Given the description of an element on the screen output the (x, y) to click on. 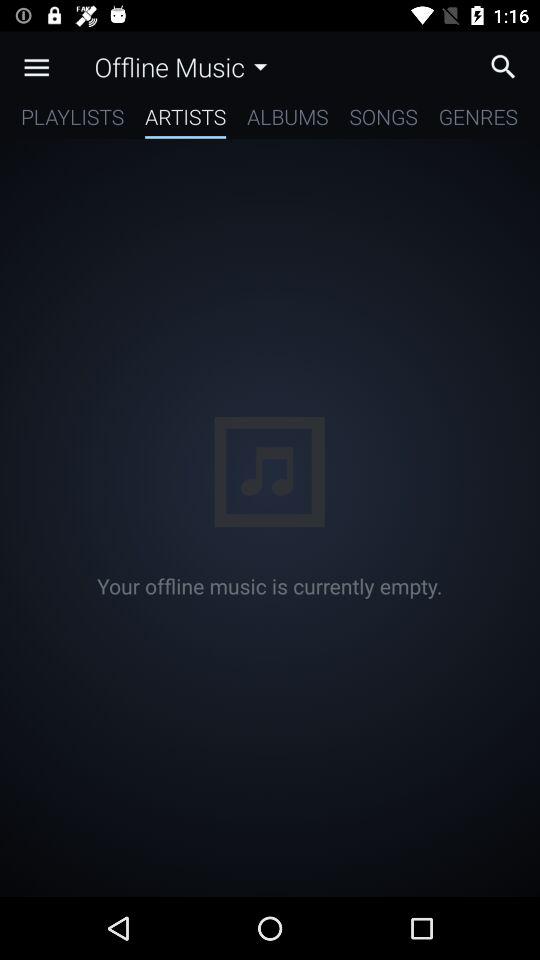
turn on the app to the right of artists item (287, 120)
